Given the description of an element on the screen output the (x, y) to click on. 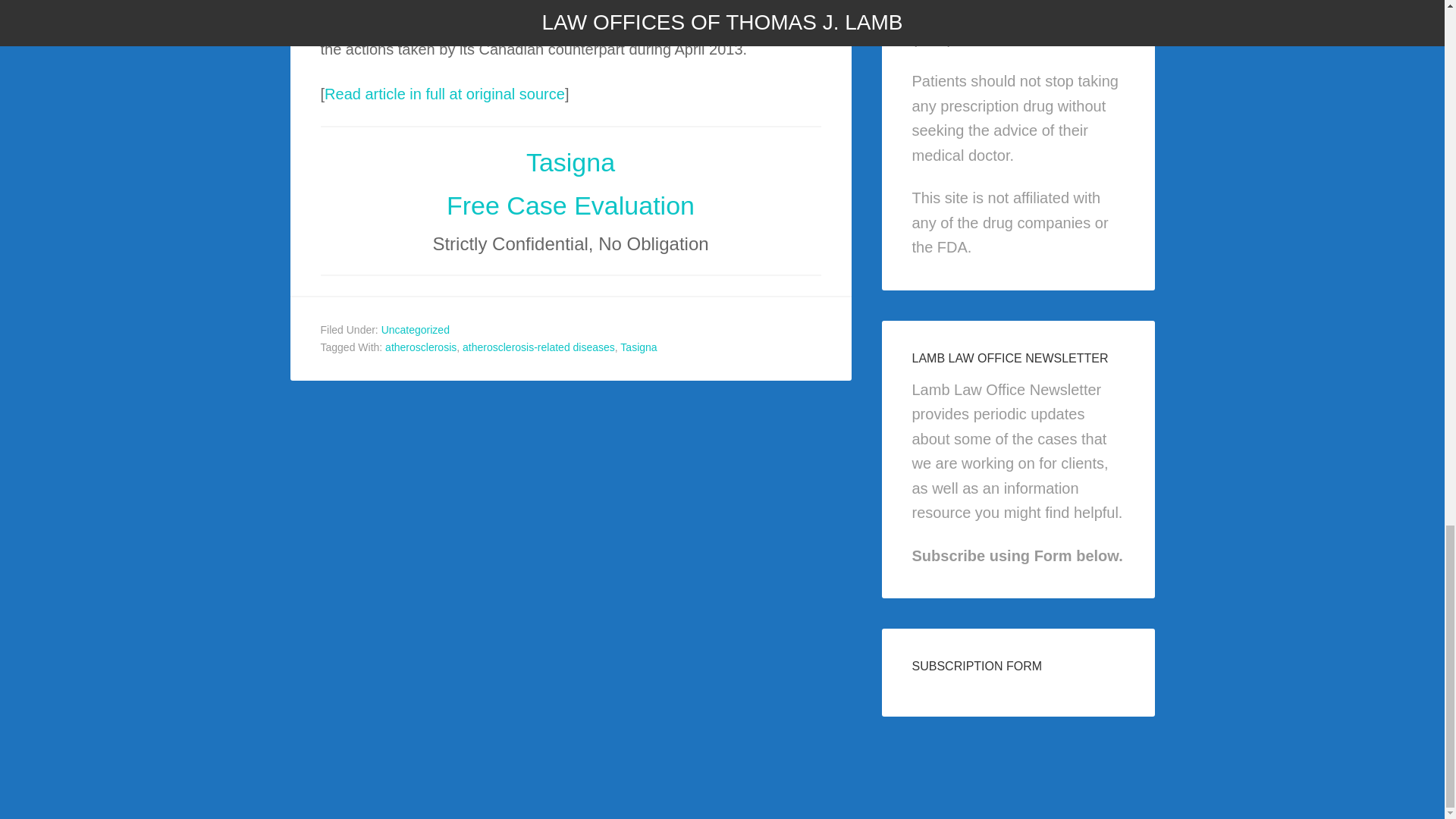
Uncategorized (415, 329)
Tasigna (569, 162)
atherosclerosis (421, 346)
Tasigna (638, 346)
atherosclerosis-related diseases (538, 346)
Free Case Evaluation (570, 205)
Read article in full at original source (444, 93)
